Given the description of an element on the screen output the (x, y) to click on. 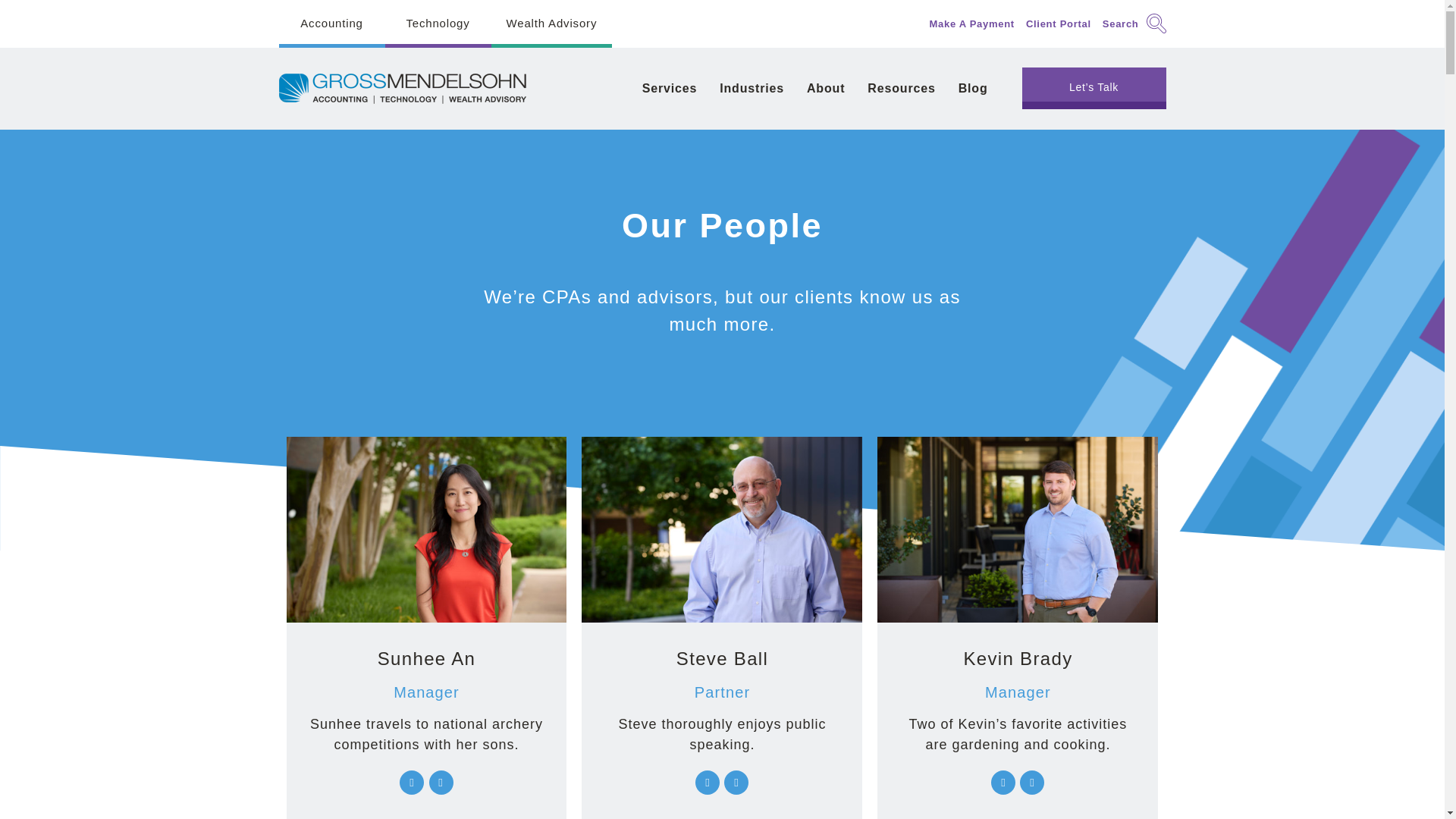
Wealth Advisory (552, 23)
Client Portal (1058, 23)
Search (1134, 23)
Services (668, 87)
Accounting (332, 23)
Industries (750, 87)
Make A Payment (970, 23)
Resources (901, 87)
Technology (438, 23)
